Given the description of an element on the screen output the (x, y) to click on. 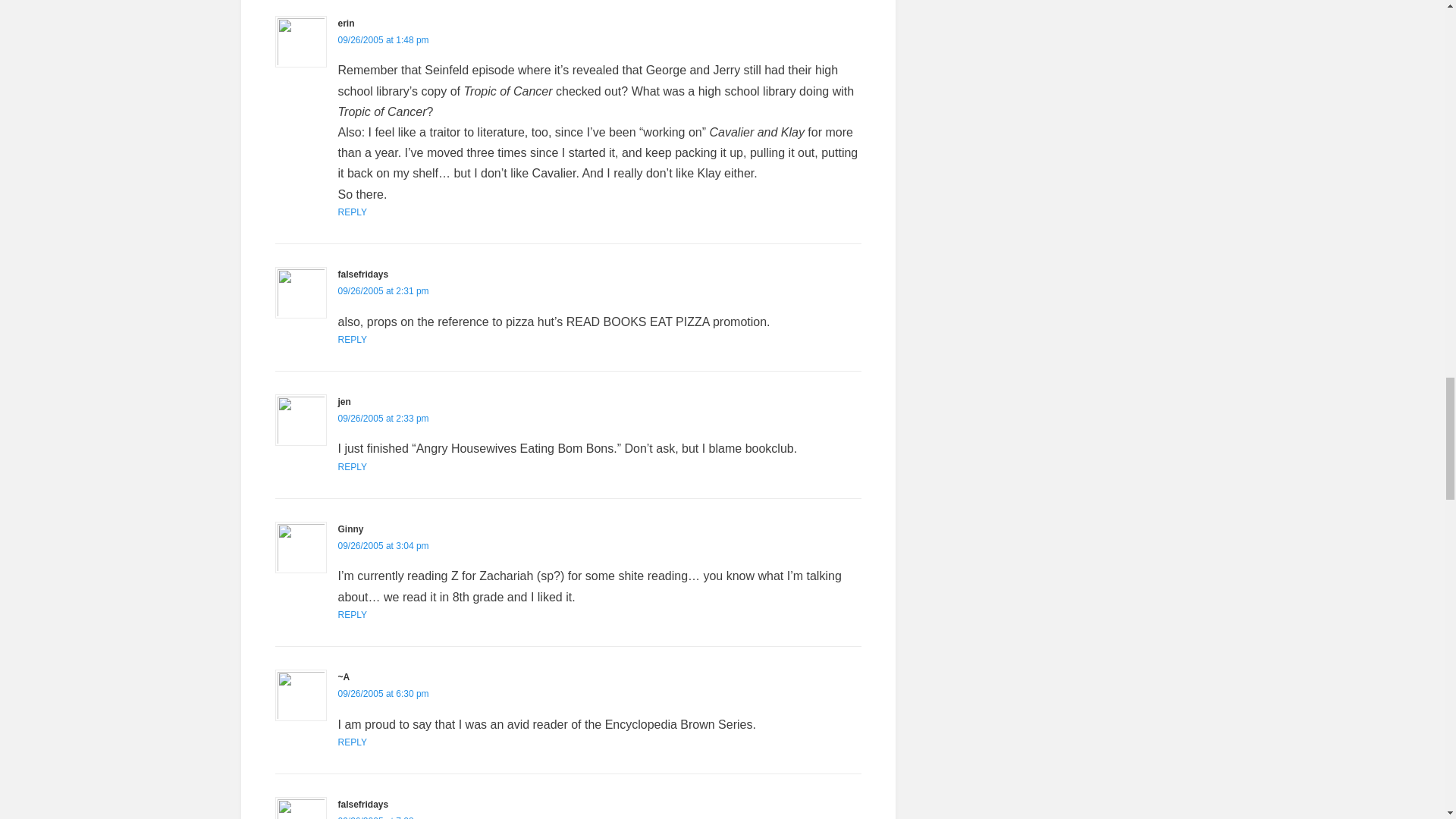
jen (343, 401)
REPLY (351, 742)
REPLY (351, 614)
falsefridays (362, 274)
REPLY (351, 339)
REPLY (351, 466)
REPLY (351, 212)
erin (346, 23)
falsefridays (362, 804)
